Given the description of an element on the screen output the (x, y) to click on. 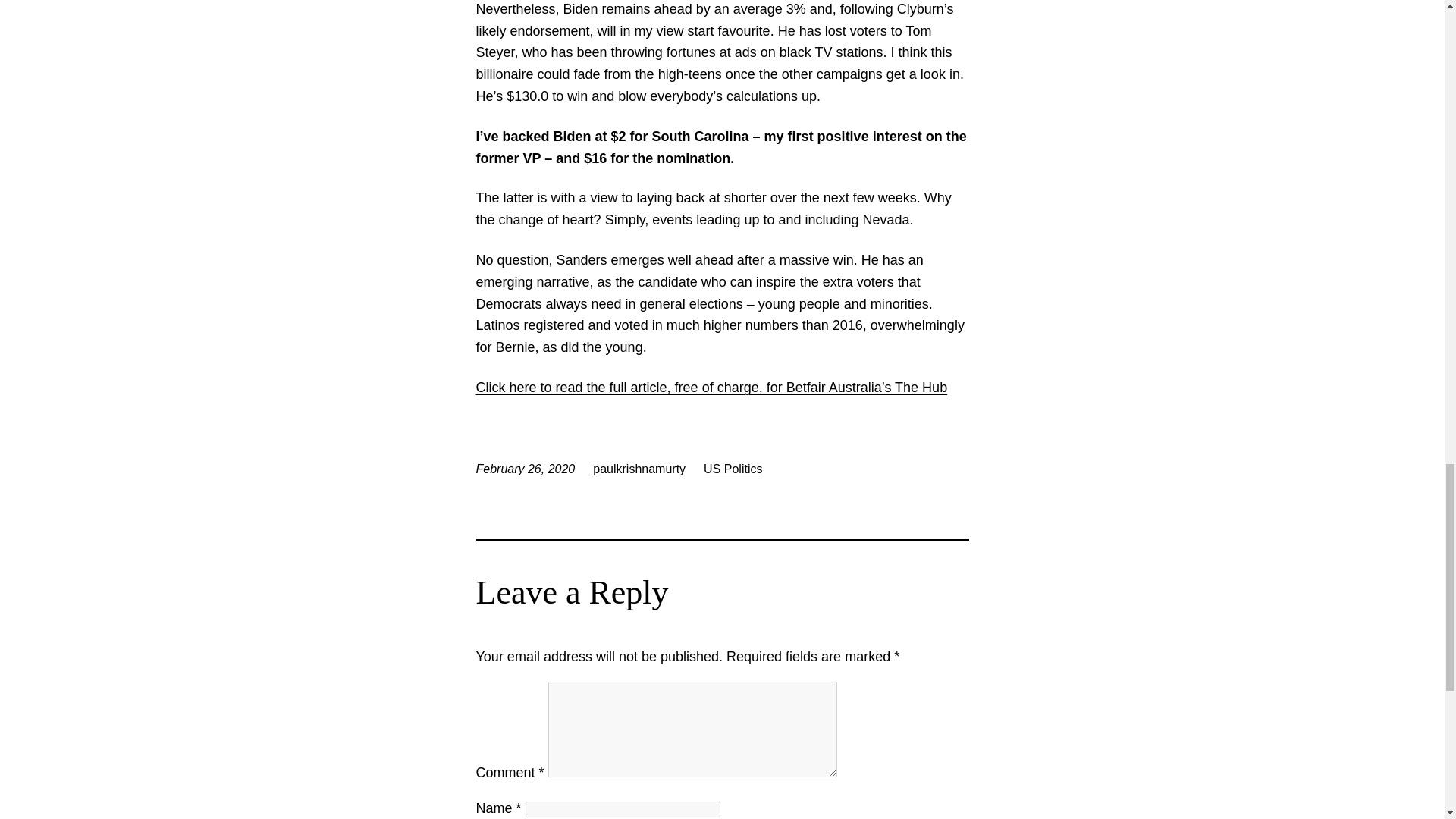
US Politics (732, 468)
